Given the description of an element on the screen output the (x, y) to click on. 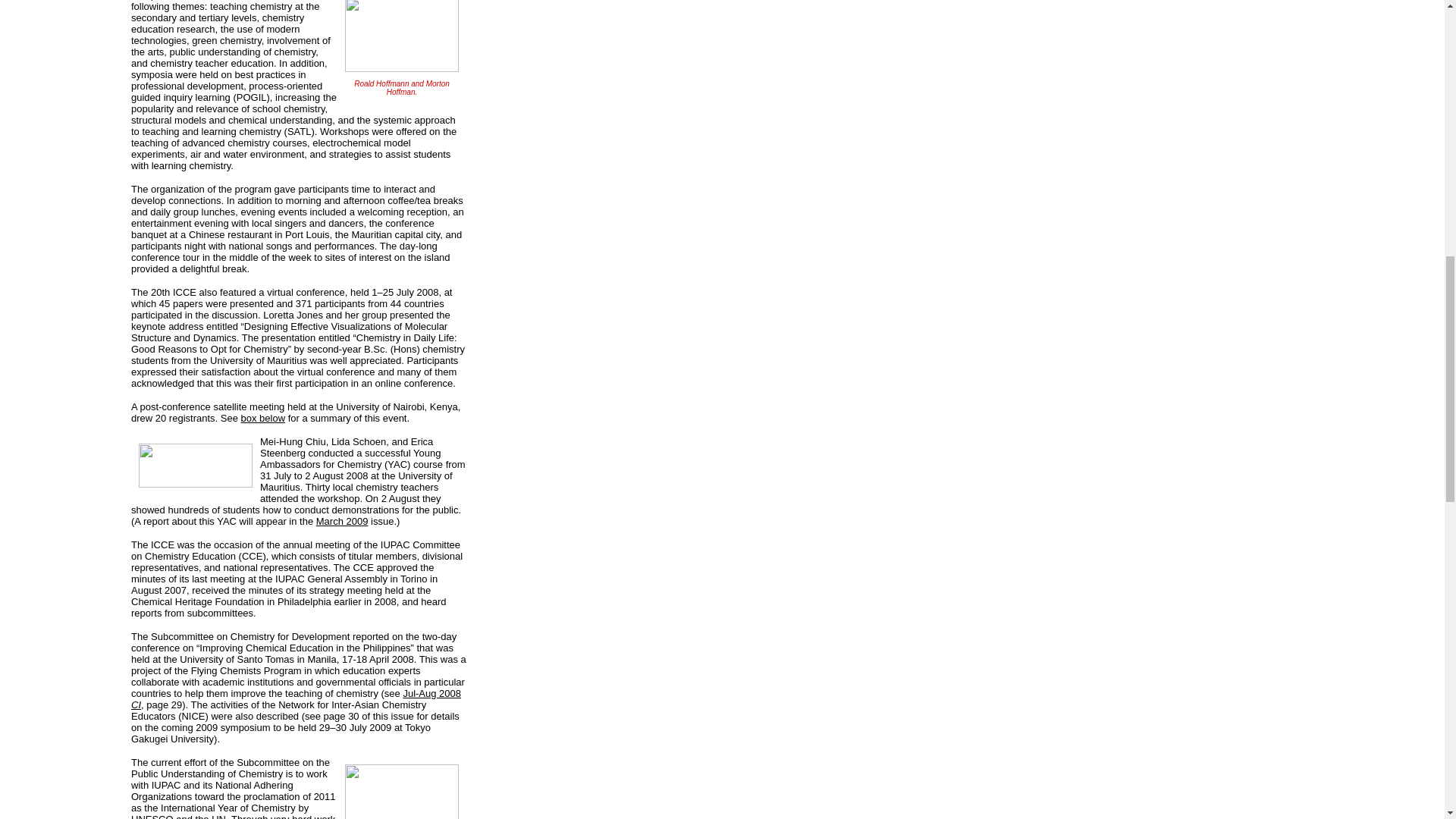
box below (263, 418)
Jul-Aug 2008 CI (296, 698)
March 2009 (341, 521)
